Given the description of an element on the screen output the (x, y) to click on. 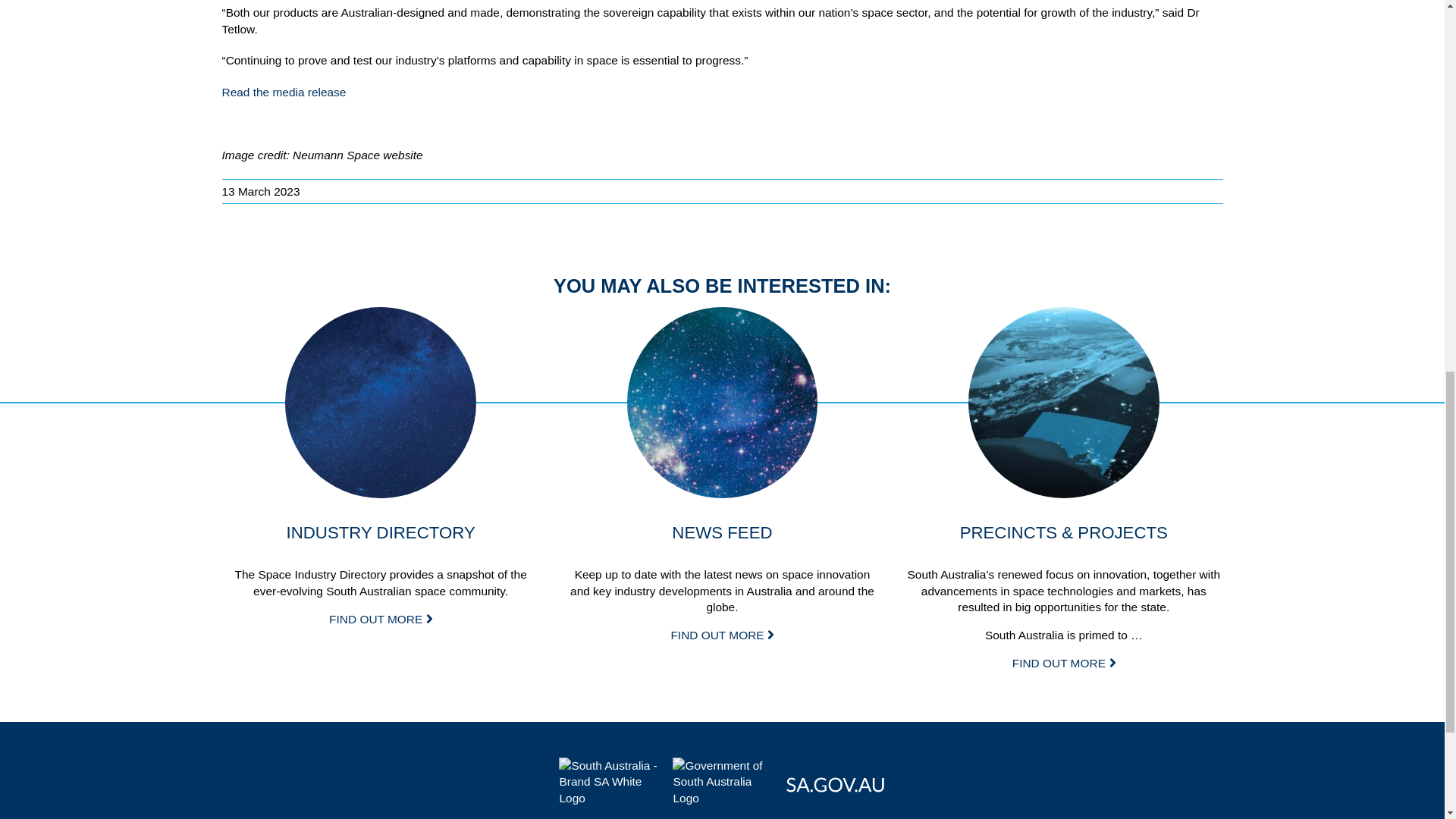
sa.gov.au logo (835, 781)
South Australia White Logo (608, 781)
View: News Feed (721, 634)
View: INDUSTRY DIRECTORY (380, 618)
View: News Feed (722, 402)
View: INDUSTRY DIRECTORY (380, 402)
Government of South Australia Logo (721, 781)
